Given the description of an element on the screen output the (x, y) to click on. 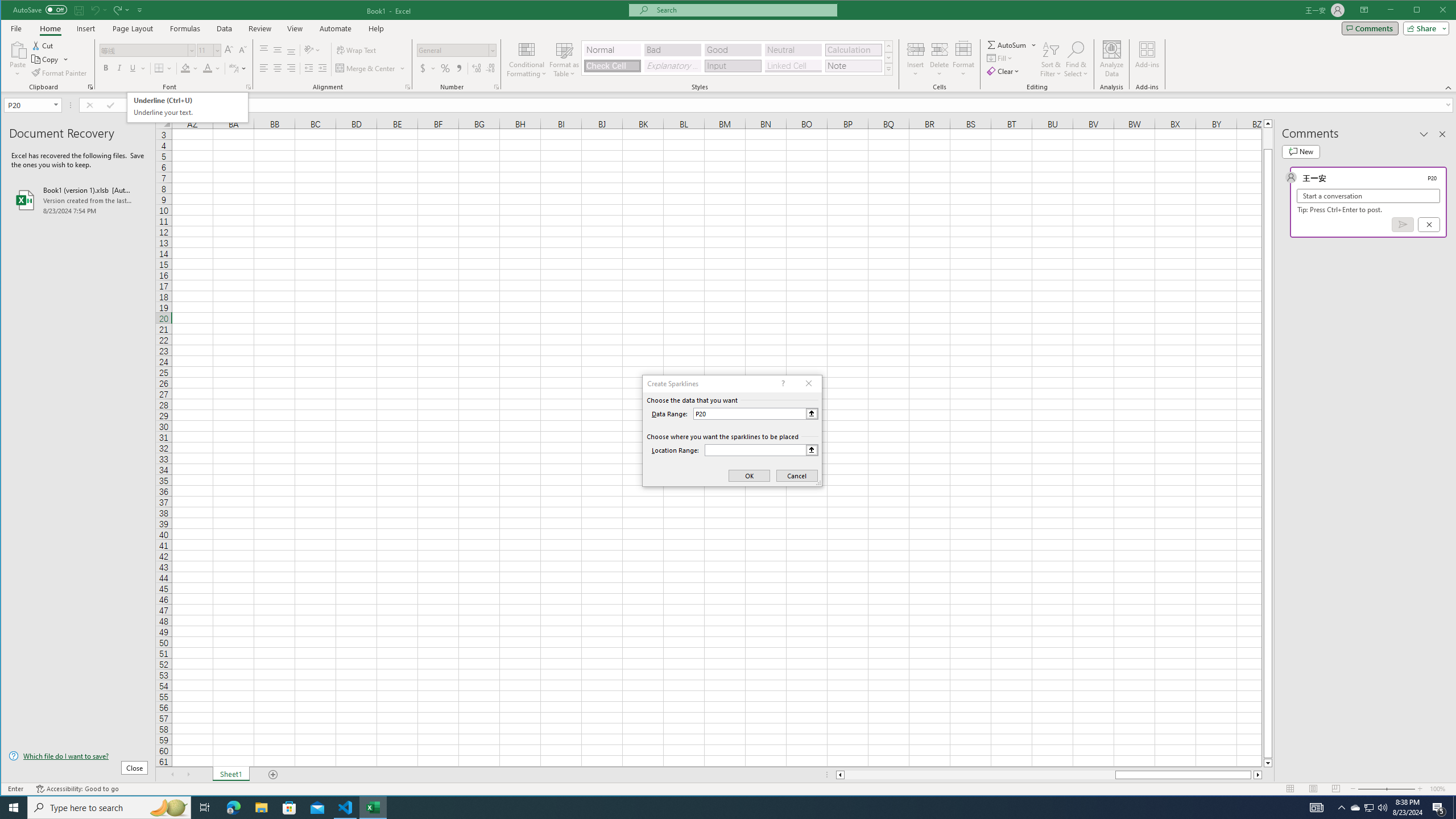
Paste (17, 48)
Font Color (211, 68)
Font Size (208, 49)
Good (732, 49)
Increase Indent (322, 68)
Analyze Data (1112, 59)
Neutral (793, 49)
